Given the description of an element on the screen output the (x, y) to click on. 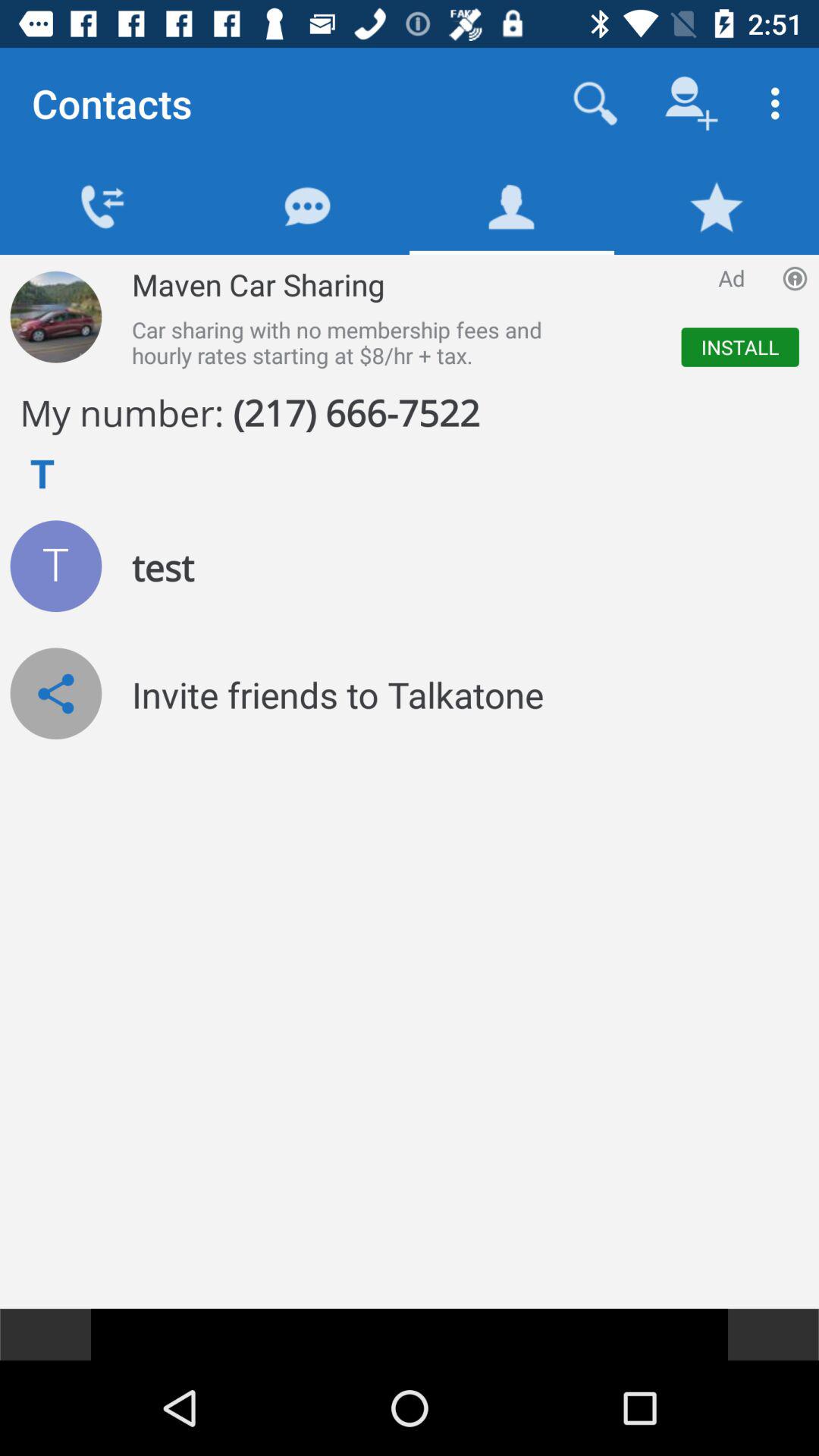
more information of maven car sharing (55, 316)
